Given the description of an element on the screen output the (x, y) to click on. 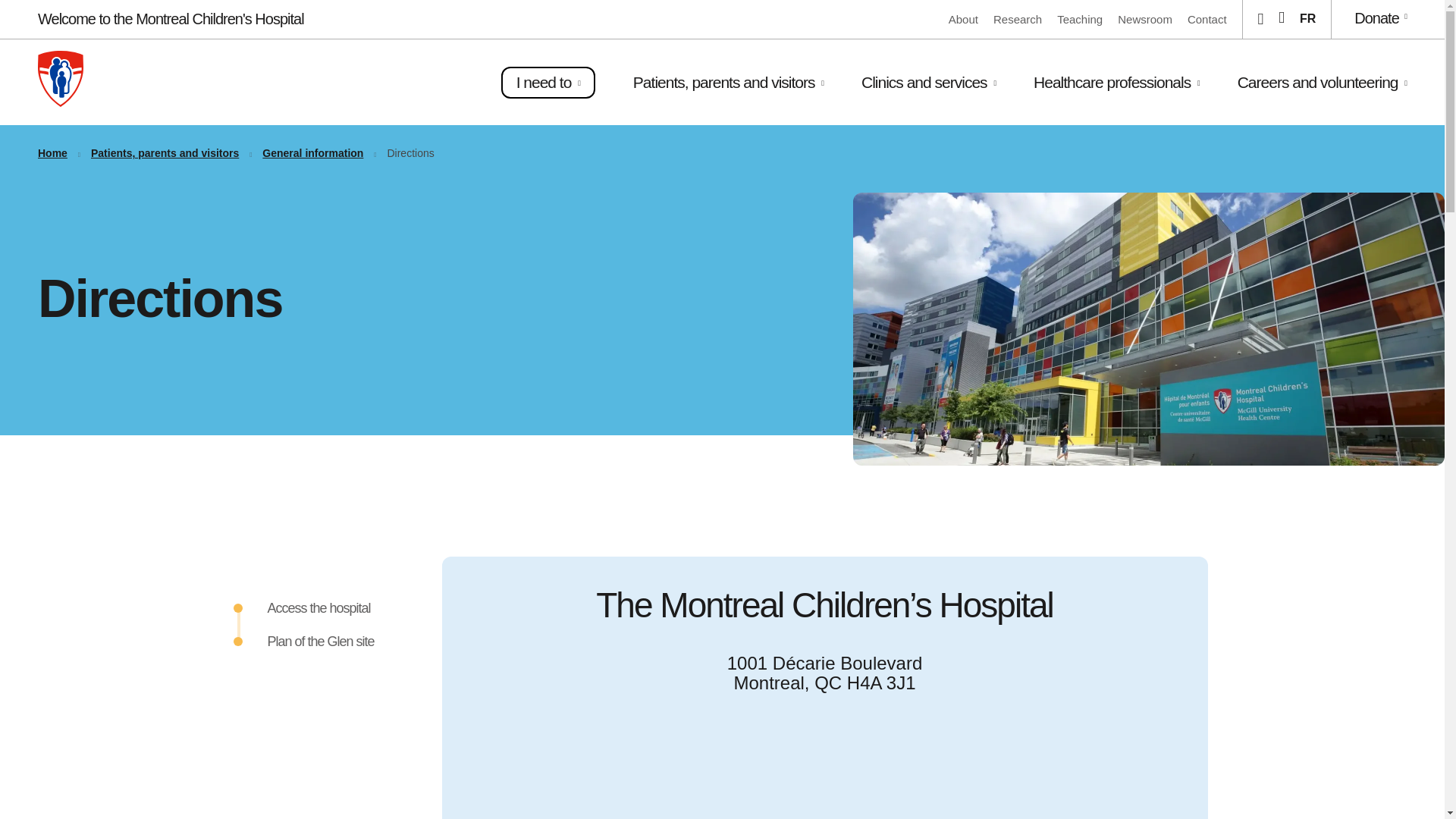
Patients, parents and visitors (728, 82)
Breadcrumb (721, 143)
Research (1017, 19)
Healthcare professionals (1116, 82)
Contact (1207, 19)
About (963, 19)
FR (1308, 18)
Teaching (1079, 19)
Donate (1380, 17)
Clinics and services (928, 82)
Newsroom (1145, 19)
I need to (547, 82)
